Given the description of an element on the screen output the (x, y) to click on. 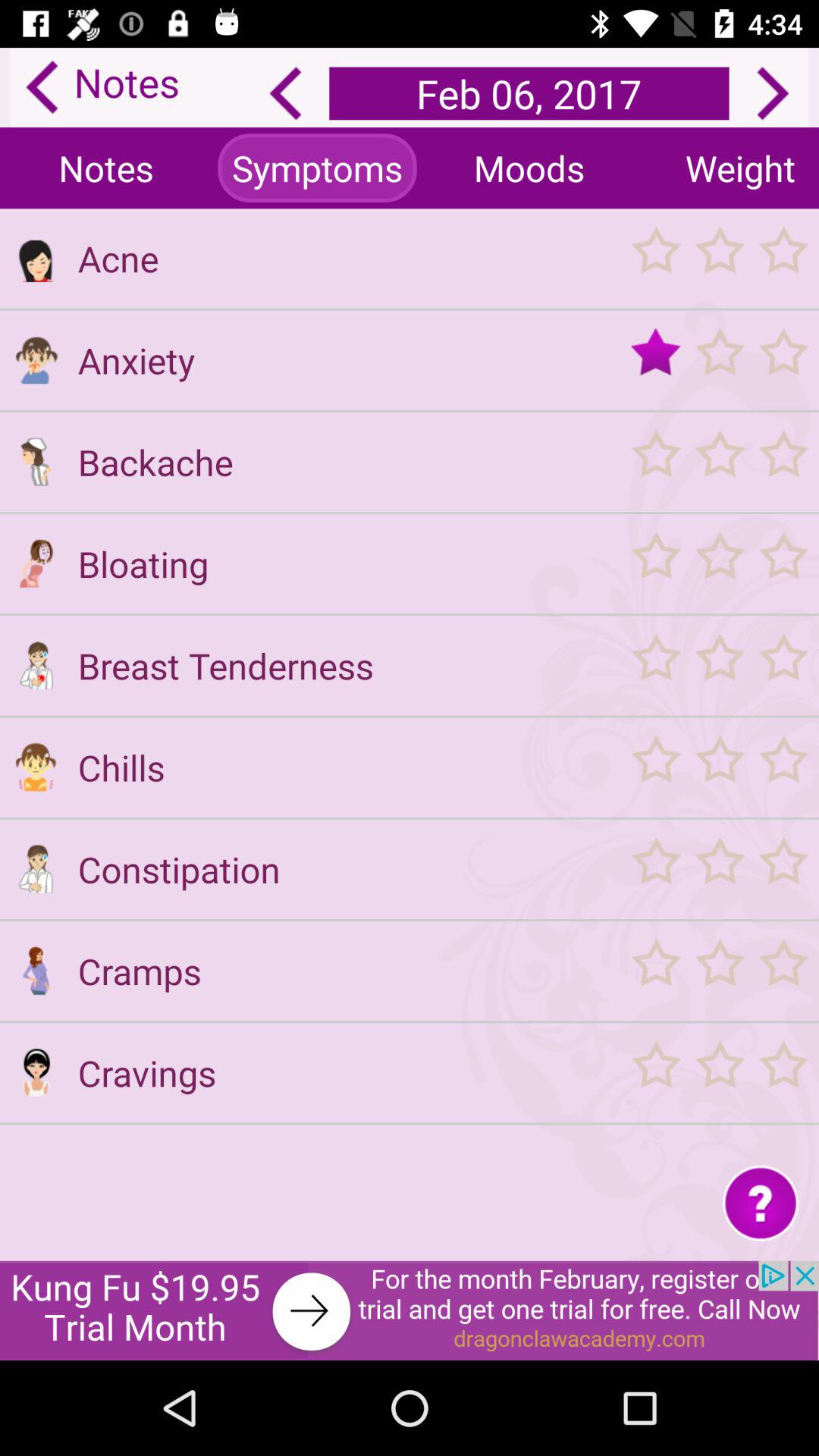
symptom star rating (719, 359)
